Given the description of an element on the screen output the (x, y) to click on. 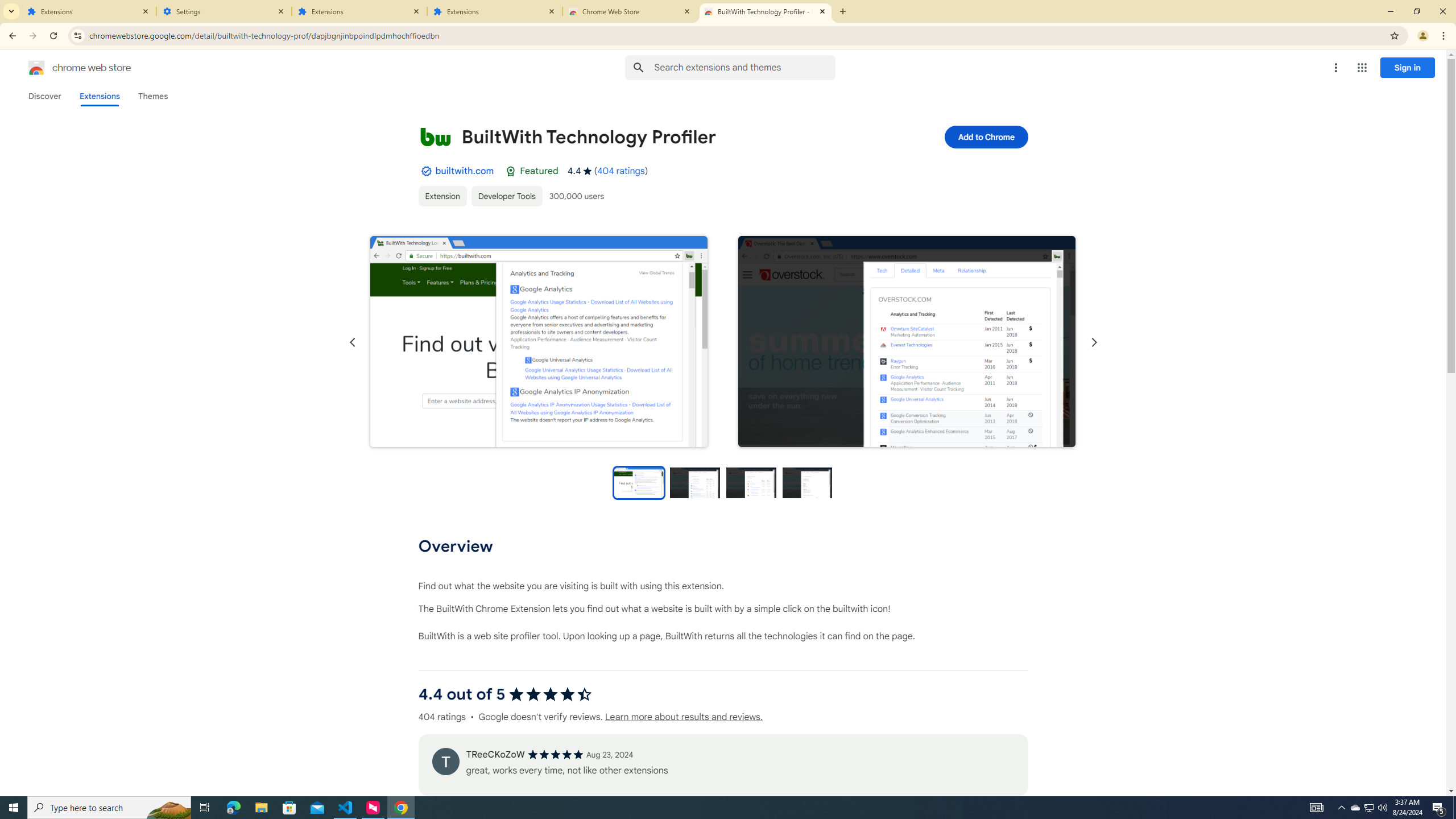
Next slide (1093, 342)
Item media 1 screenshot (538, 341)
Settings (224, 11)
Item media 1 screenshot (538, 342)
Item media 2 screenshot (906, 341)
Add to Chrome (985, 136)
Chrome Web Store logo (36, 67)
More options menu (1335, 67)
Chrome Web Store logo chrome web store (67, 67)
Featured Badge (510, 170)
4.4 out of 5 stars (549, 693)
